Given the description of an element on the screen output the (x, y) to click on. 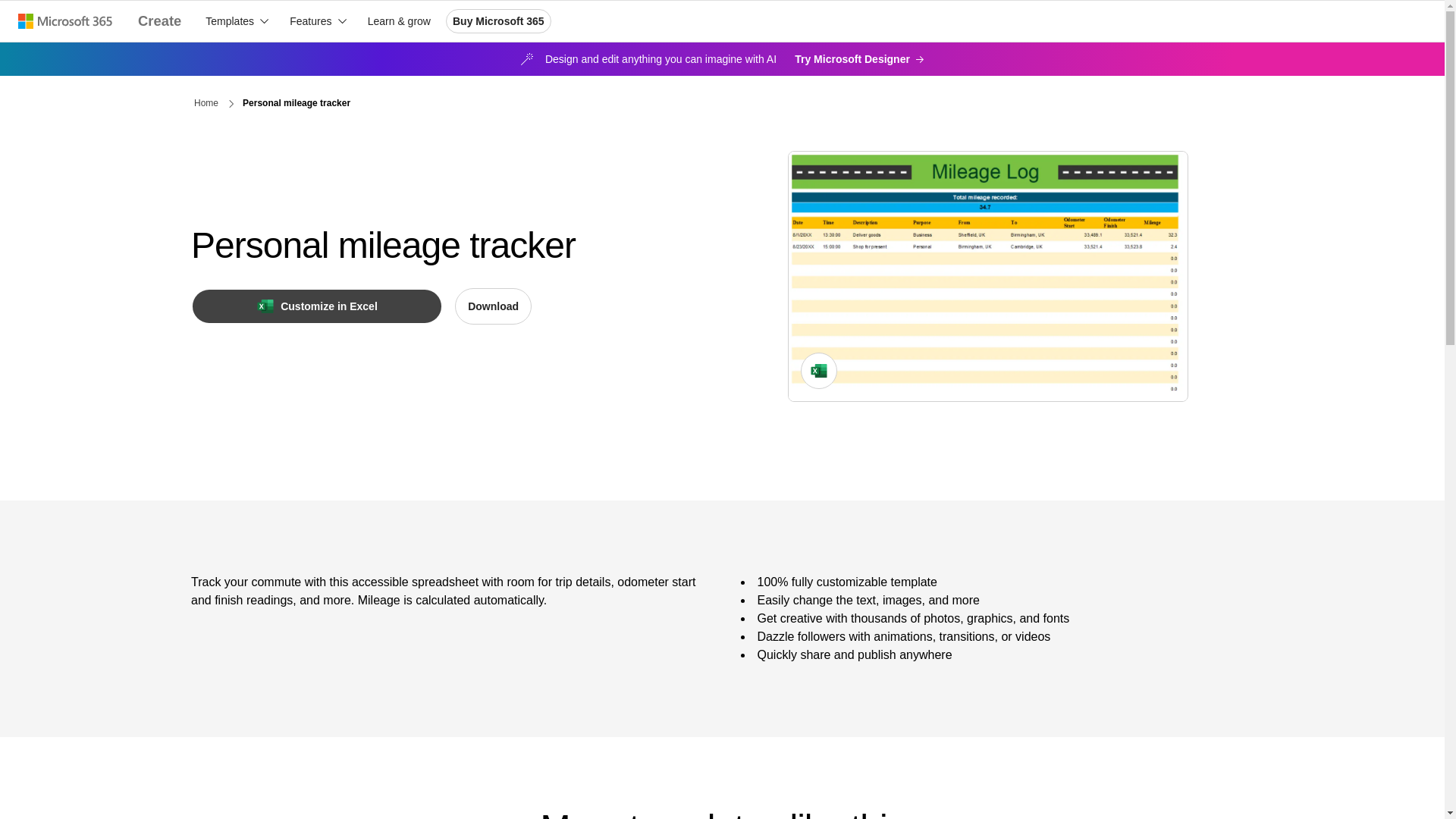
Create (159, 21)
Templates (237, 21)
Personal mileage tracker modern simple (987, 276)
Features (317, 21)
